Given the description of an element on the screen output the (x, y) to click on. 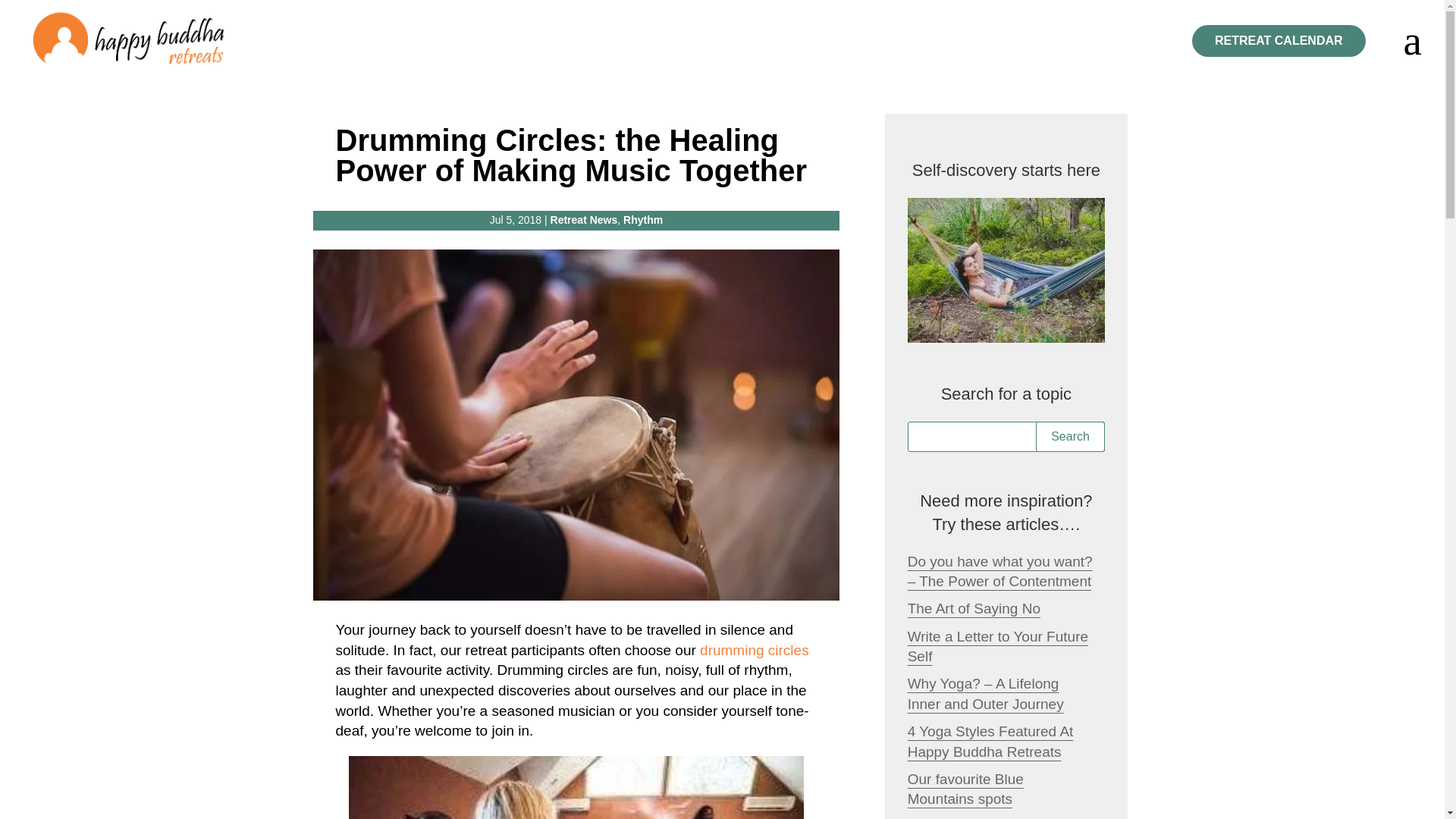
a (1403, 40)
Search (1070, 436)
Self-discovery starts here (1006, 270)
RETREAT CALENDAR (1278, 40)
